Given the description of an element on the screen output the (x, y) to click on. 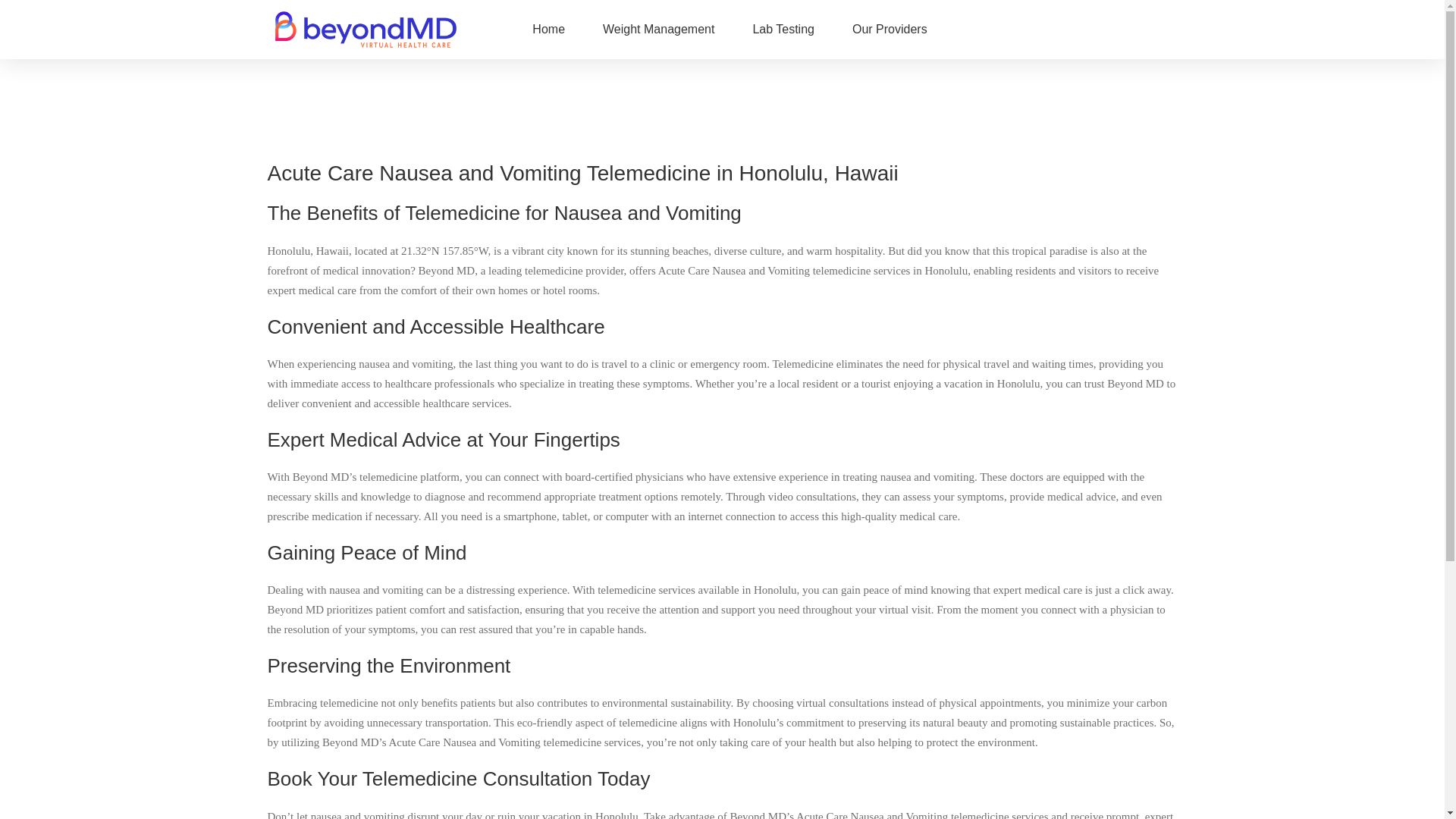
Home (548, 29)
Lab Testing (782, 29)
Weight Management (658, 29)
Our Providers (889, 29)
